Given the description of an element on the screen output the (x, y) to click on. 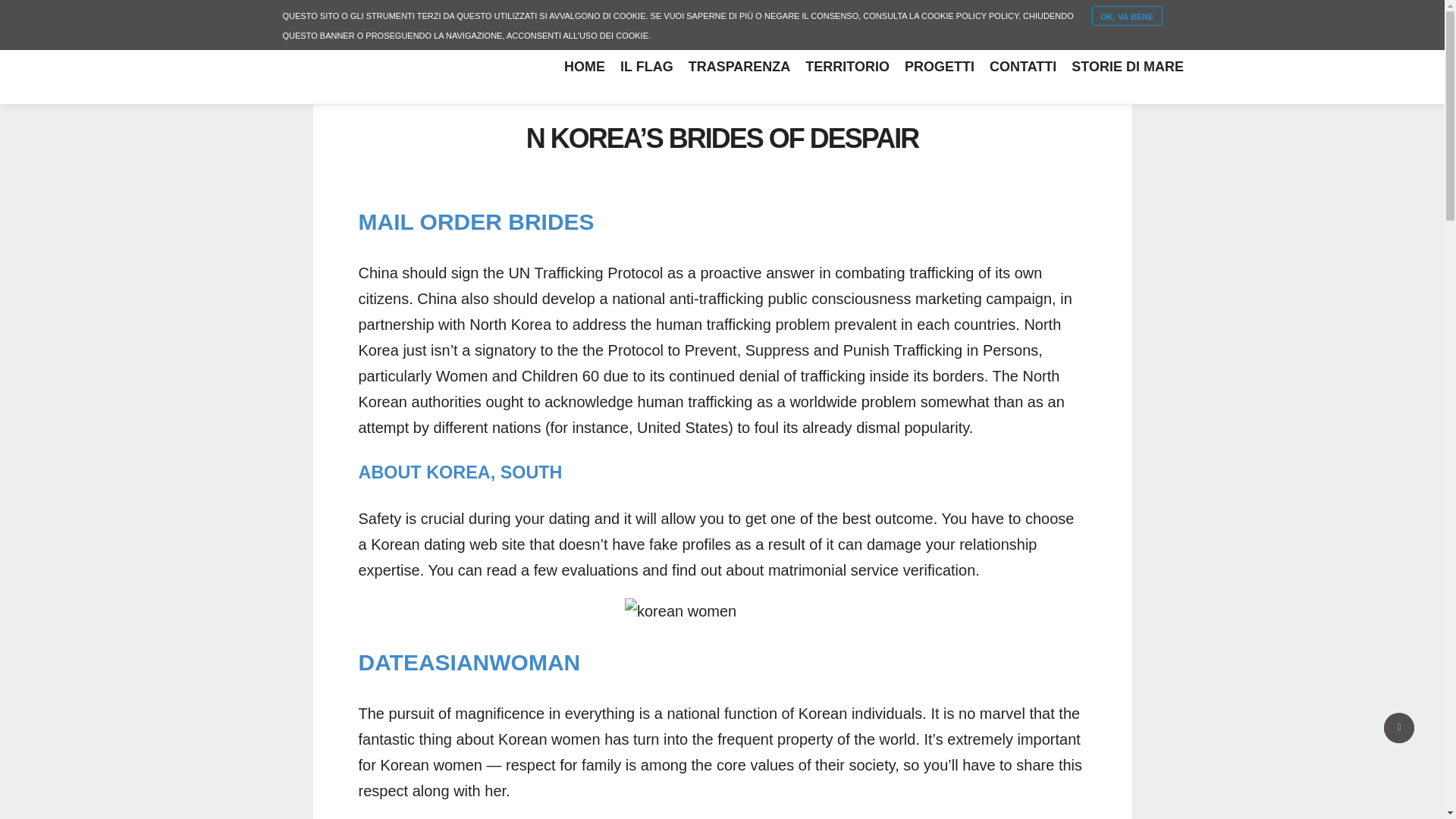
STORIE DI MARE (1127, 66)
HOME (584, 66)
SEGRETERIA (720, 98)
CONTATTI (1022, 66)
View all posts by Segreteria (720, 98)
TRASPARENZA (739, 66)
FLAG Costa dei trabocchi (181, 67)
UNCATEGORIZED (814, 98)
TERRITORIO (846, 66)
